Given the description of an element on the screen output the (x, y) to click on. 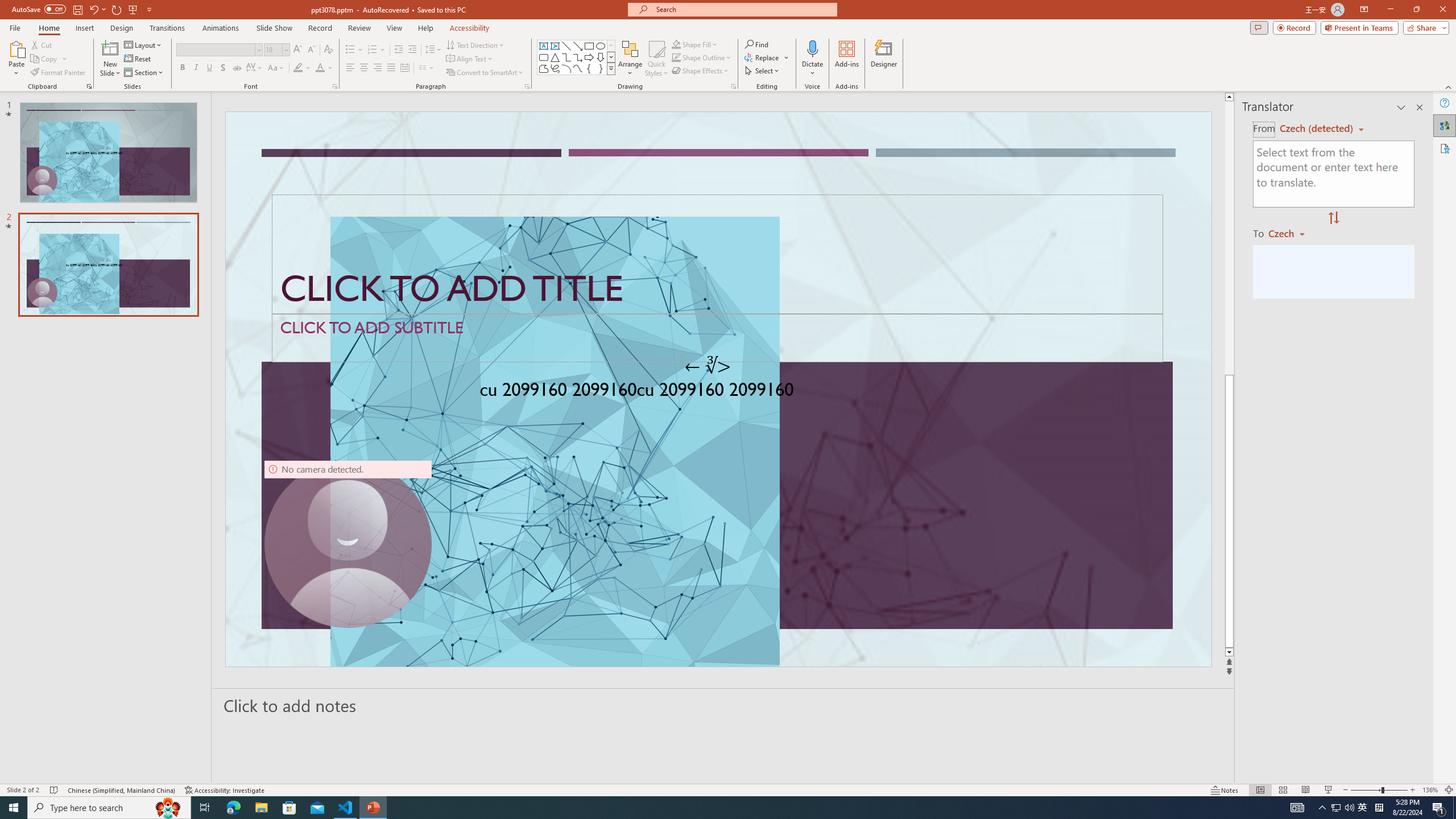
Camera 9, No camera detected. (347, 543)
